Given the description of an element on the screen output the (x, y) to click on. 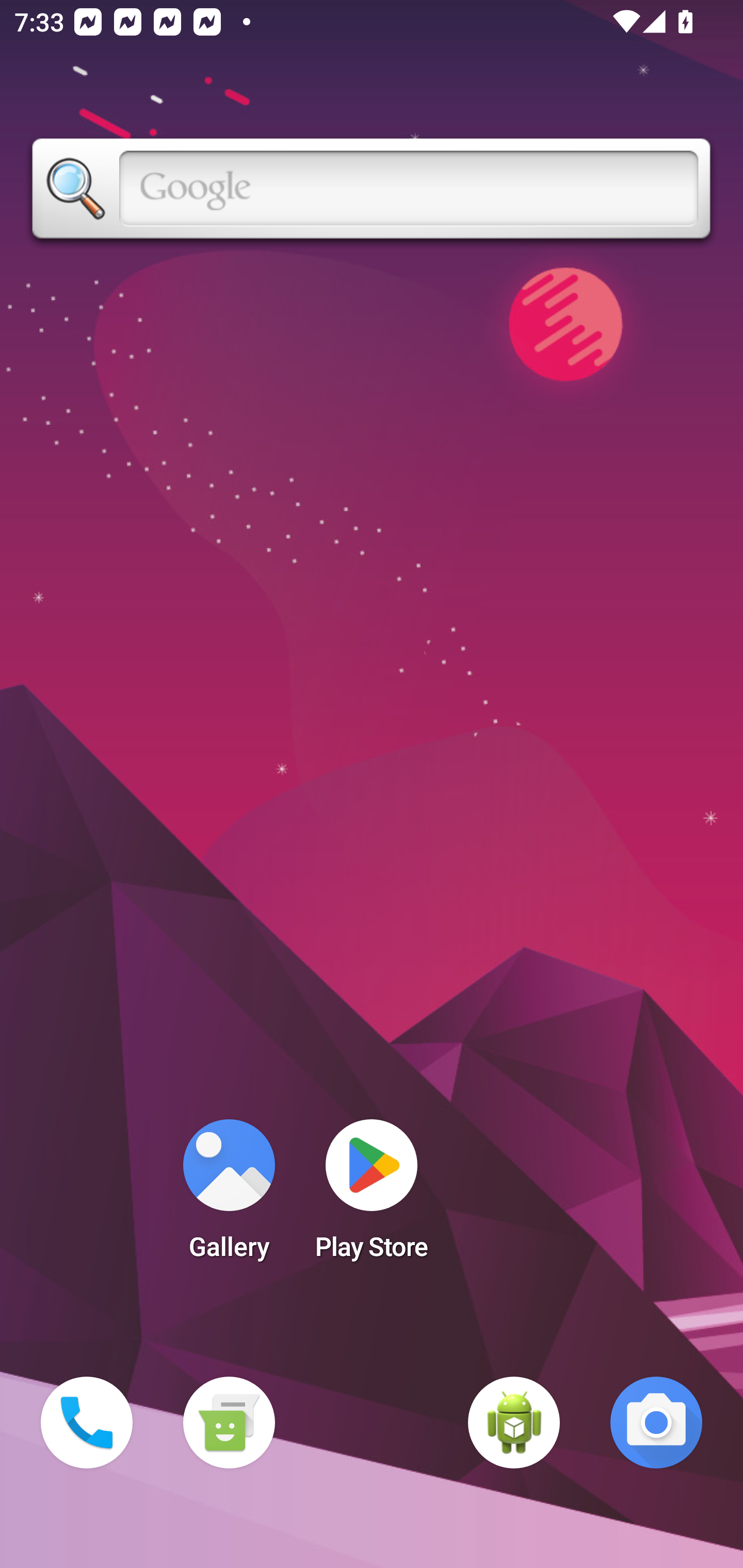
Gallery (228, 1195)
Play Store (371, 1195)
Phone (86, 1422)
Messaging (228, 1422)
WebView Browser Tester (513, 1422)
Camera (656, 1422)
